Given the description of an element on the screen output the (x, y) to click on. 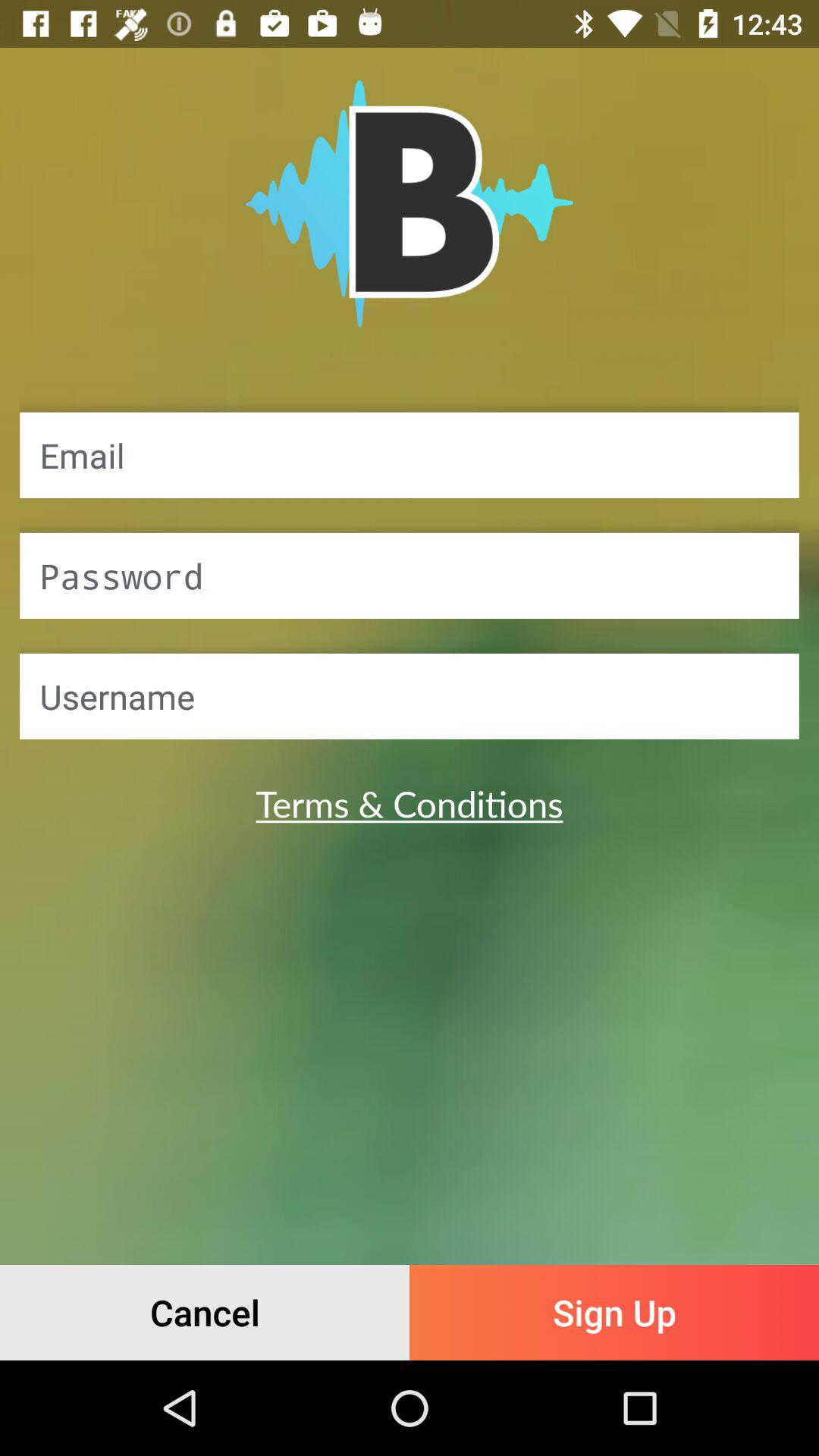
choose item next to the cancel (614, 1312)
